Given the description of an element on the screen output the (x, y) to click on. 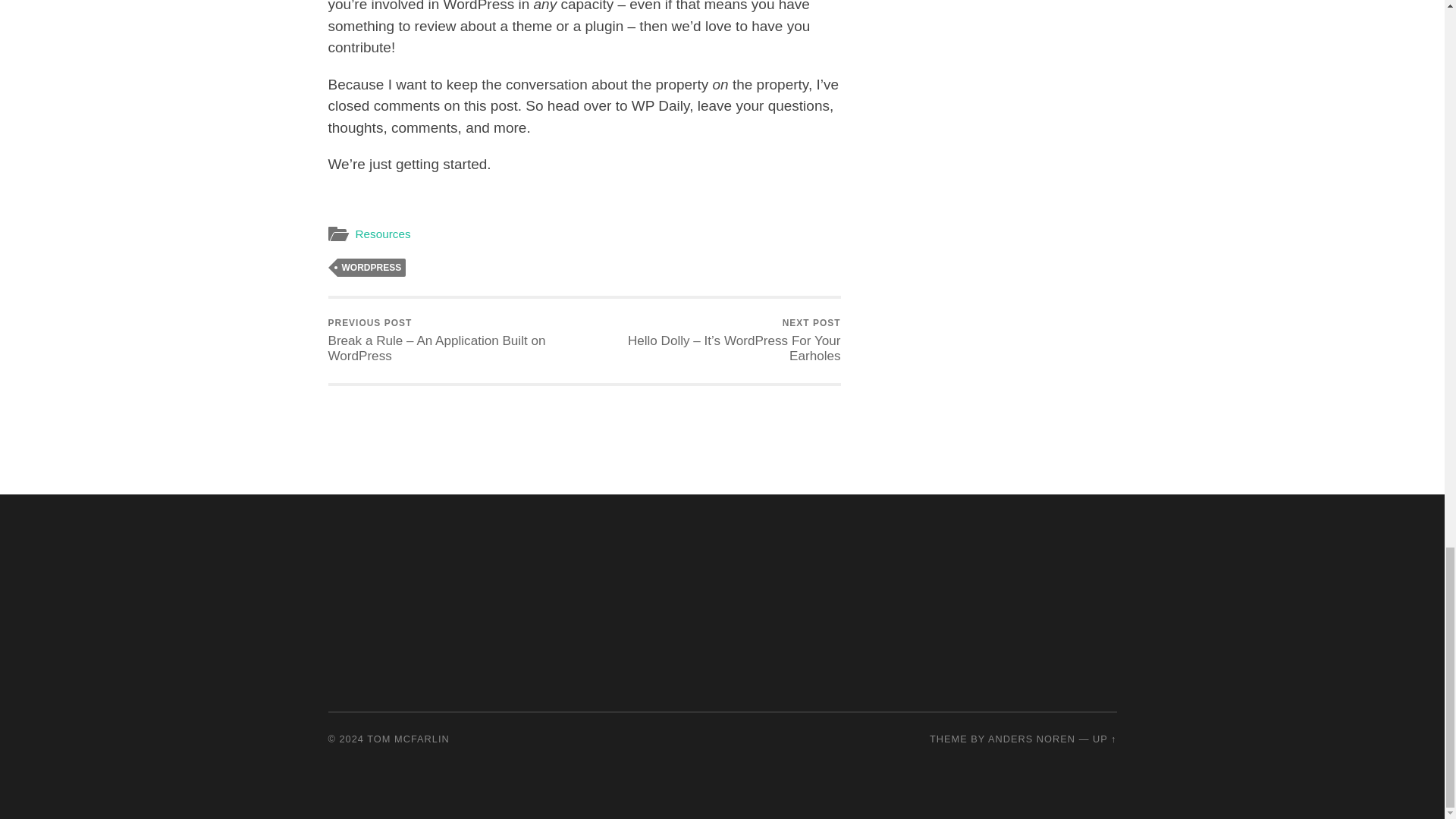
To the top (1104, 738)
WORDPRESS (371, 267)
Resources (382, 233)
